Given the description of an element on the screen output the (x, y) to click on. 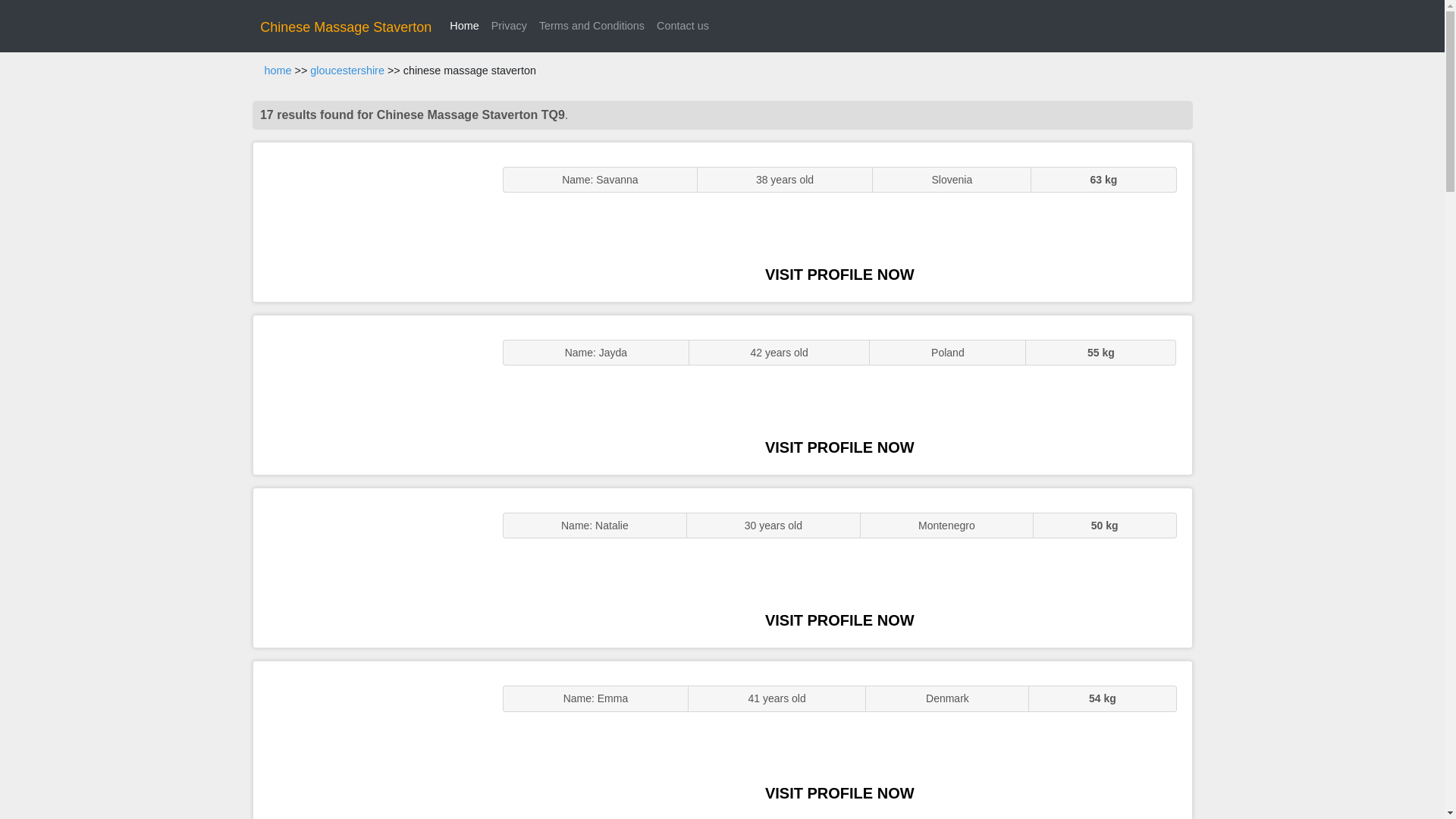
Sluts (370, 739)
gloucestershire (347, 70)
Sexy (370, 567)
VISIT PROFILE NOW (839, 446)
home (277, 70)
VISIT PROFILE NOW (839, 619)
GFE (370, 395)
VISIT PROFILE NOW (839, 274)
Contact us (682, 25)
Privacy (508, 25)
